Given the description of an element on the screen output the (x, y) to click on. 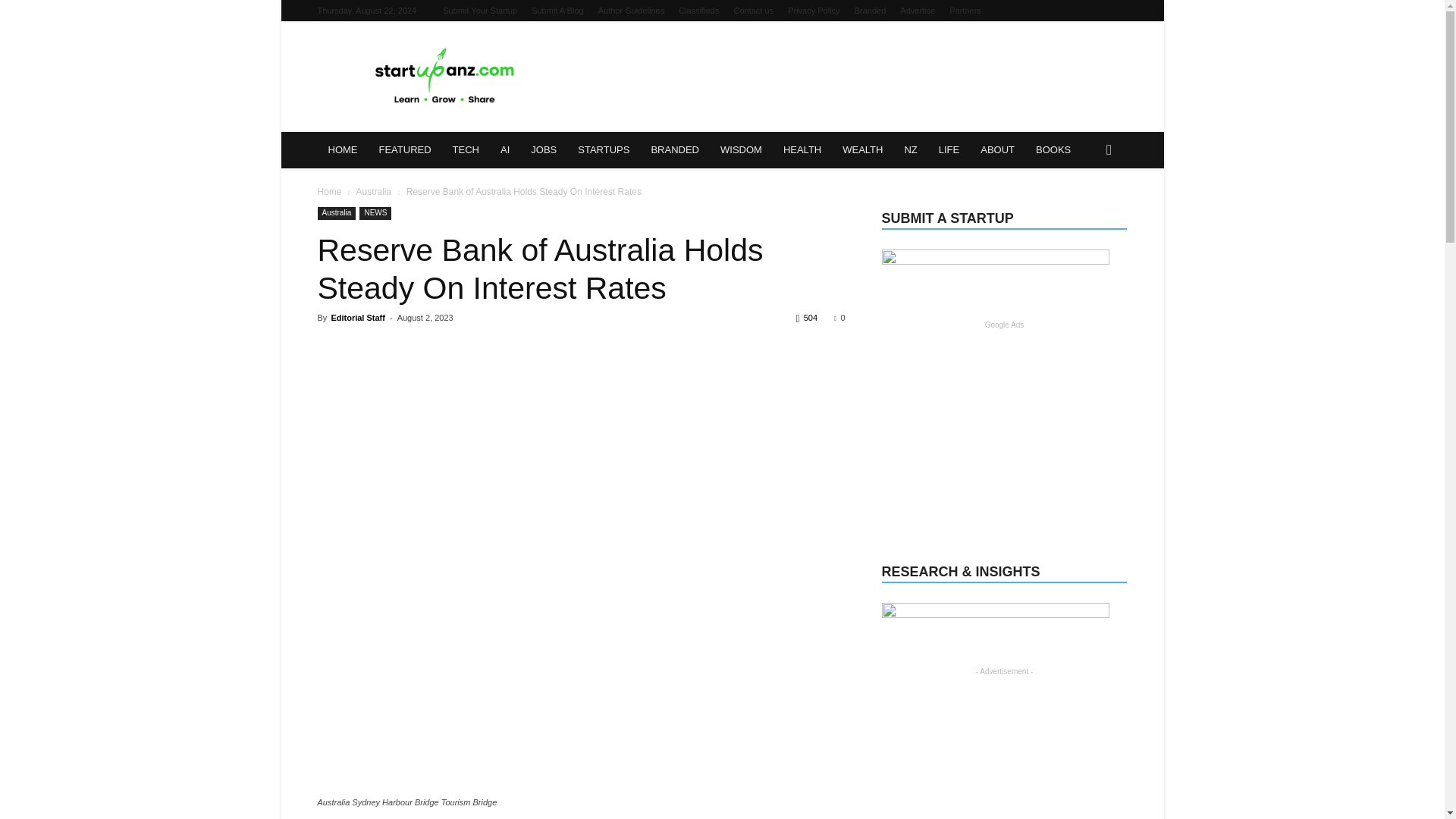
TECH (465, 149)
Submit A Blog (557, 10)
Classifieds (698, 10)
Partners (965, 10)
Contact us (753, 10)
Branded (870, 10)
Startupanz.com (446, 76)
STARTUPS (603, 149)
Author Guidelines (630, 10)
Privacy Policy (813, 10)
